Given the description of an element on the screen output the (x, y) to click on. 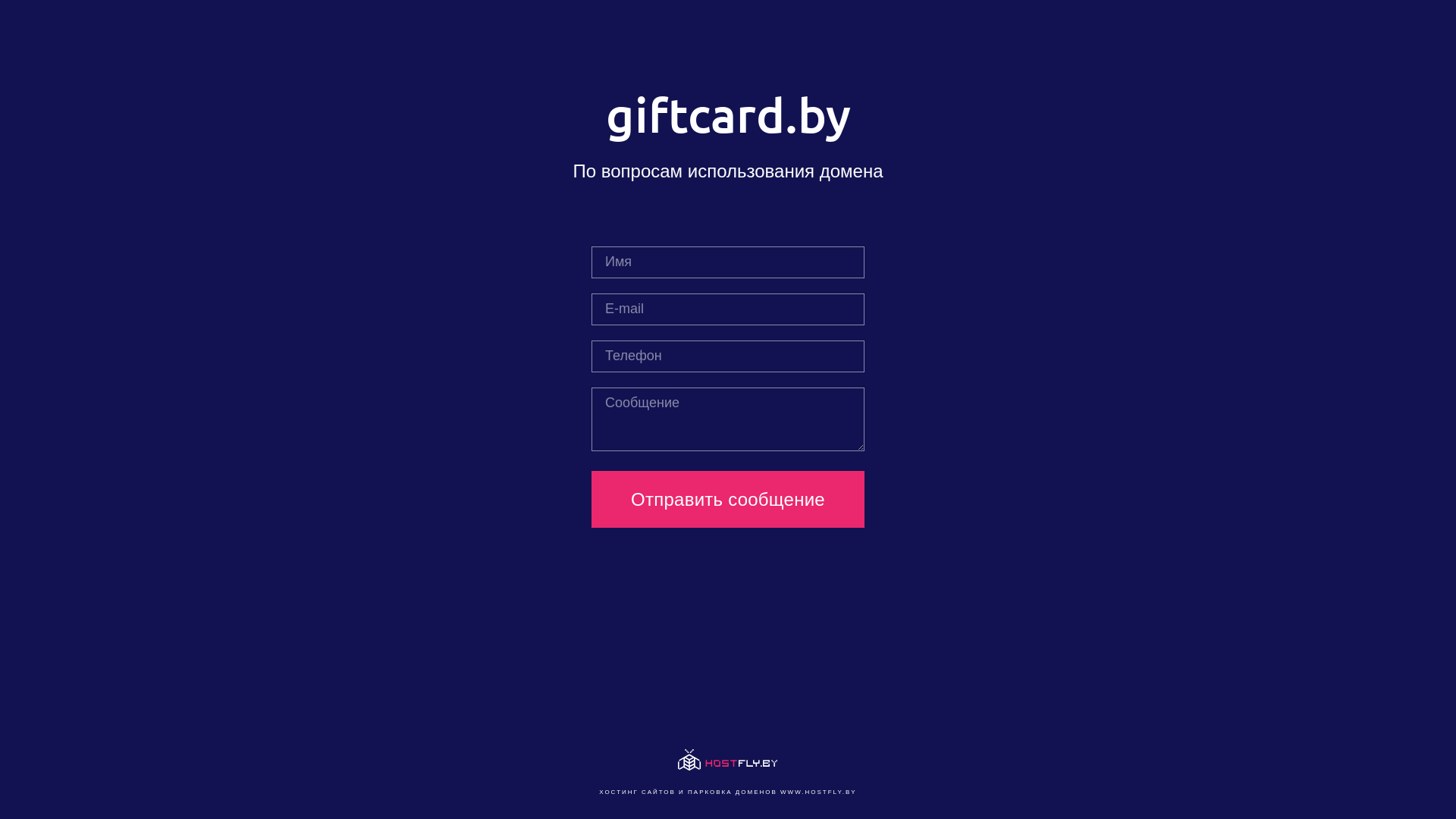
WWW.HOSTFLY.BY Element type: text (818, 791)
